Given the description of an element on the screen output the (x, y) to click on. 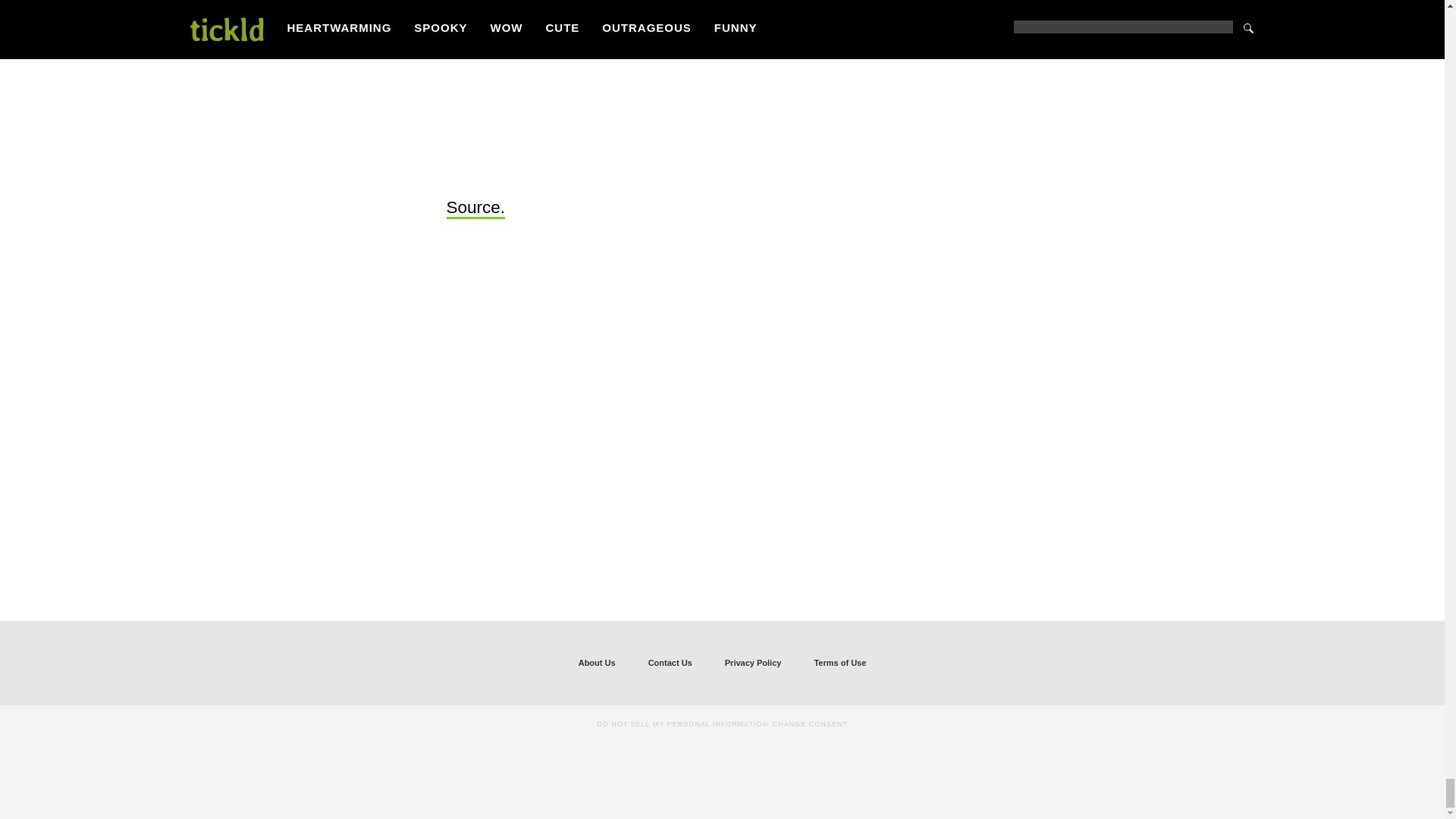
Terms of Use (838, 662)
Source. (475, 208)
About Us (596, 662)
Contact Us (670, 662)
DO NOT SELL MY PERSONAL INFORMATION (682, 723)
CHANGE CONSENT (810, 723)
Privacy Policy (753, 662)
